Given the description of an element on the screen output the (x, y) to click on. 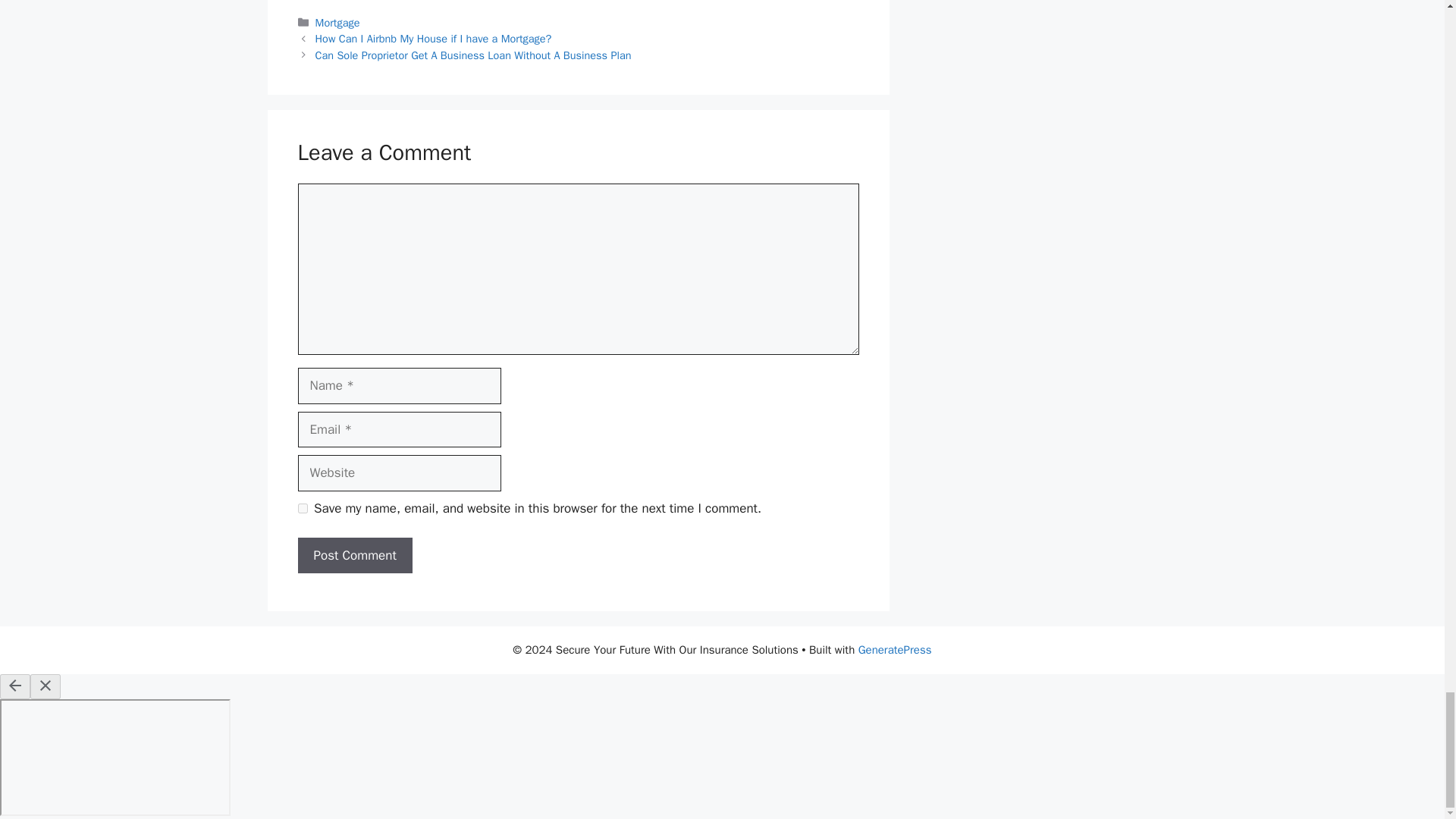
yes (302, 508)
How Can I Airbnb My House if I have a Mortgage? (433, 38)
Mortgage (337, 22)
Post Comment (354, 555)
Post Comment (354, 555)
